Given the description of an element on the screen output the (x, y) to click on. 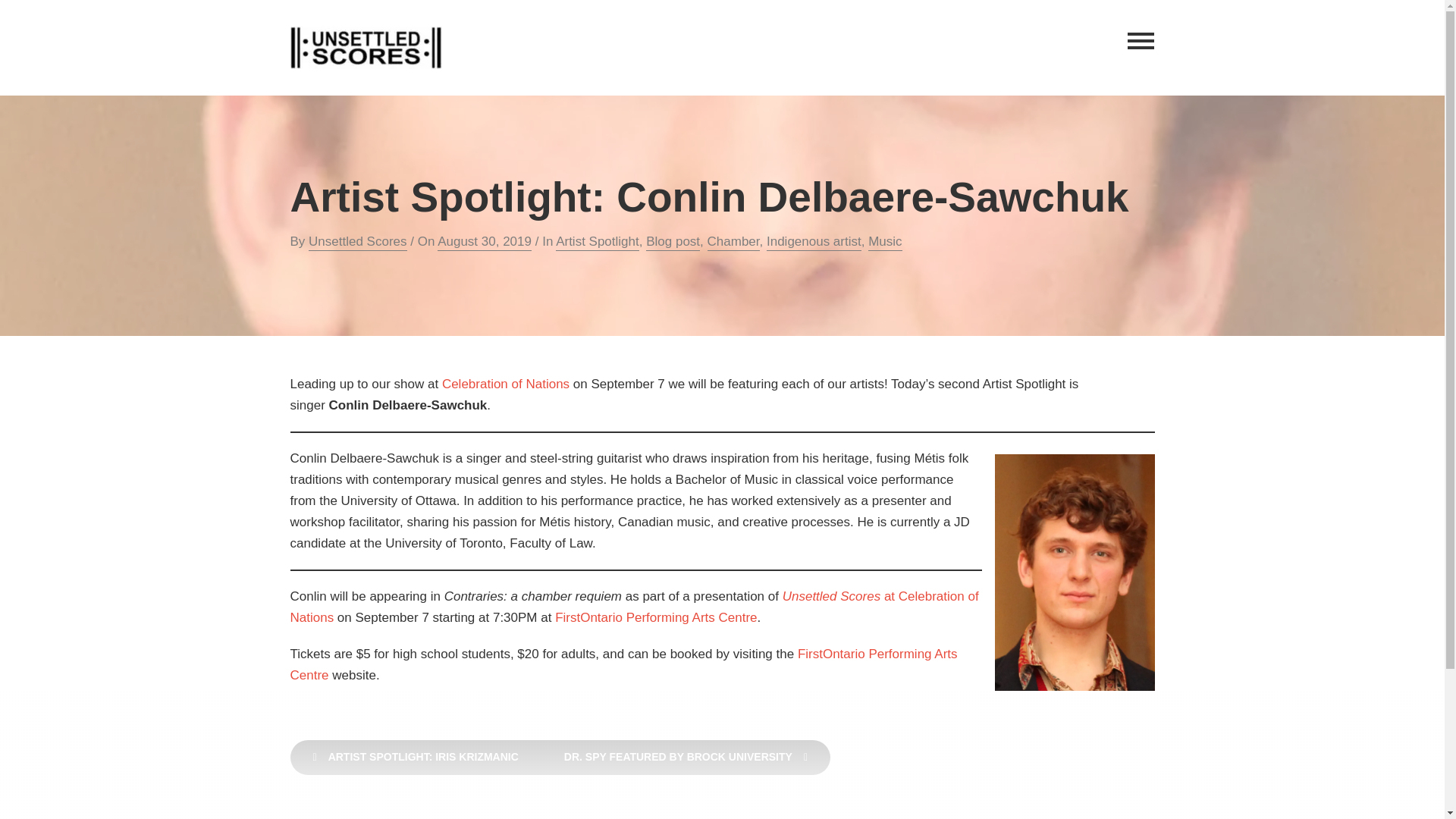
Chamber (733, 242)
Music (884, 242)
Indigenous artist (814, 242)
FirstOntario Performing Arts Centre (622, 664)
Celebration of Nations (505, 383)
August 30, 2019 (484, 242)
Unsettled Scores (357, 242)
DR. SPY FEATURED BY BROCK UNIVERSITY (685, 757)
FirstOntario Performing Arts Centre (655, 617)
ARTIST SPOTLIGHT: IRIS KRIZMANIC (414, 757)
